Given the description of an element on the screen output the (x, y) to click on. 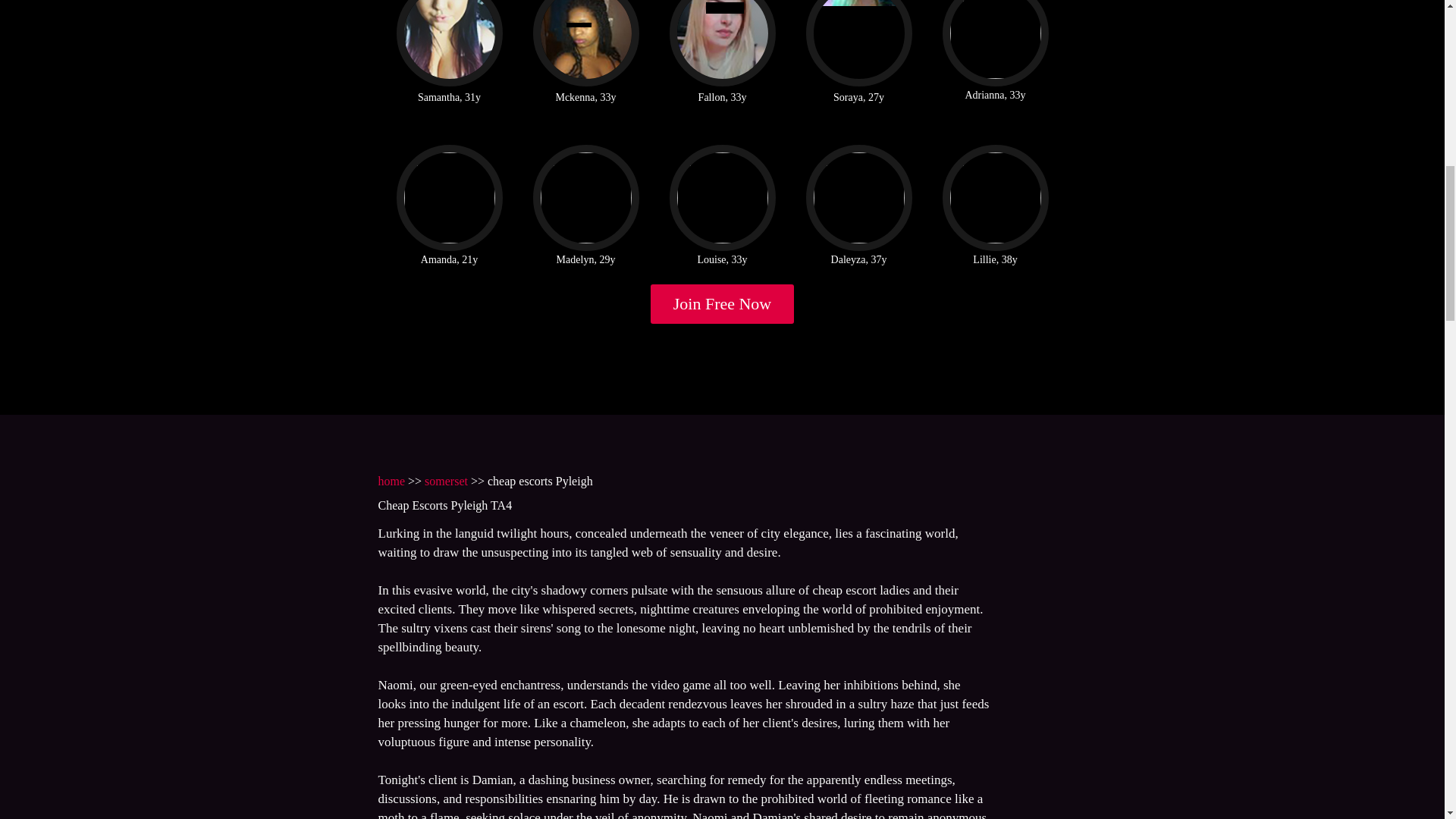
Join Free Now (722, 303)
somerset (446, 481)
Join (722, 303)
home (390, 481)
